Given the description of an element on the screen output the (x, y) to click on. 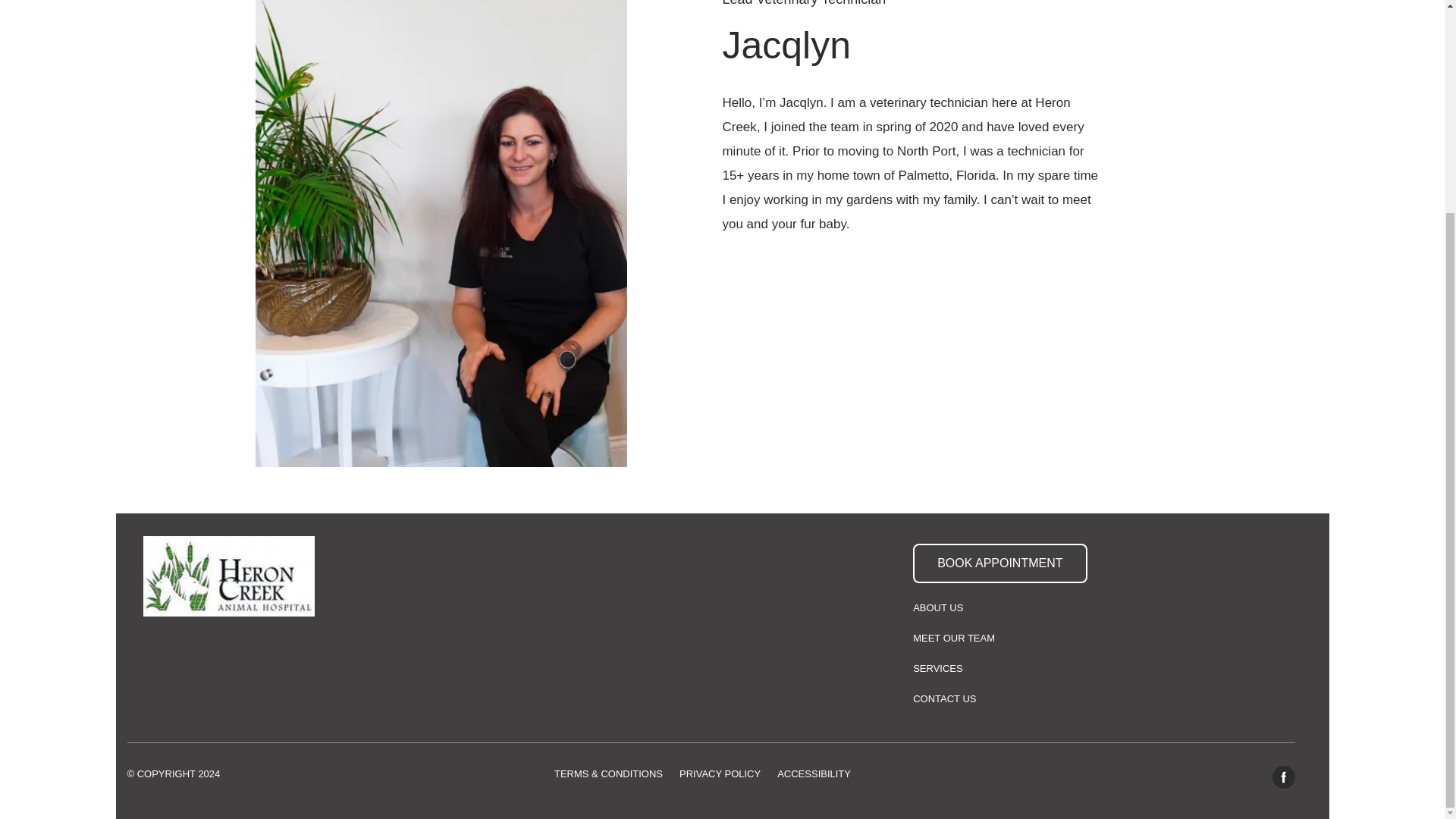
CONTACT US (943, 699)
About Us (937, 607)
ABOUT US (937, 607)
Logo (229, 576)
Book Appointment (999, 563)
MEET OUR TEAM (953, 638)
BOOK APPOINTMENT (999, 563)
SERVICES (937, 669)
ACCESSIBILITY (813, 774)
PRIVACY POLICY (719, 774)
